Given the description of an element on the screen output the (x, y) to click on. 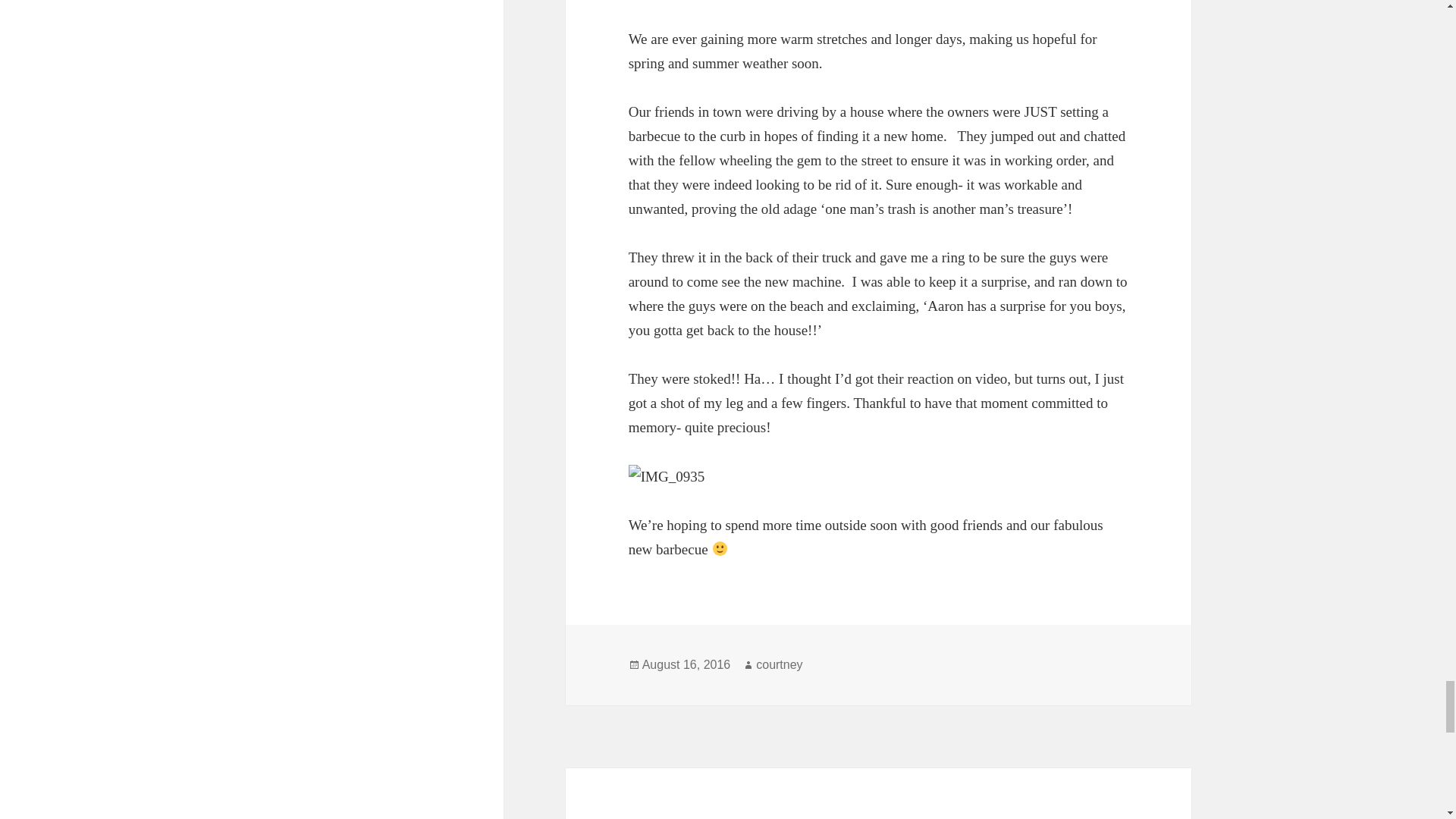
courtney (778, 664)
August 16, 2016 (686, 664)
